Given the description of an element on the screen output the (x, y) to click on. 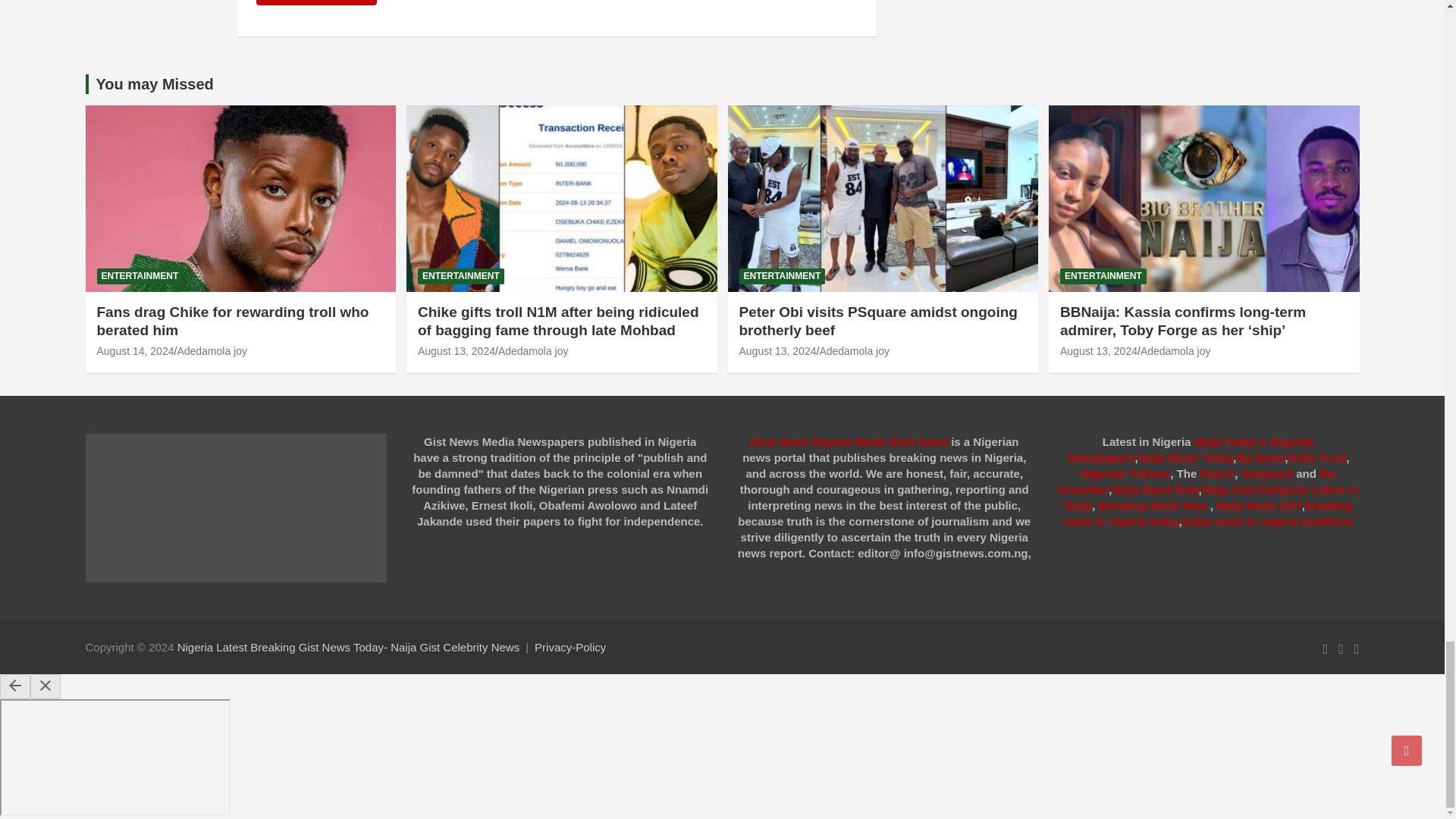
Fans drag Chike for rewarding troll who berated him (135, 350)
Post Comment (316, 2)
Post Comment (316, 2)
